Given the description of an element on the screen output the (x, y) to click on. 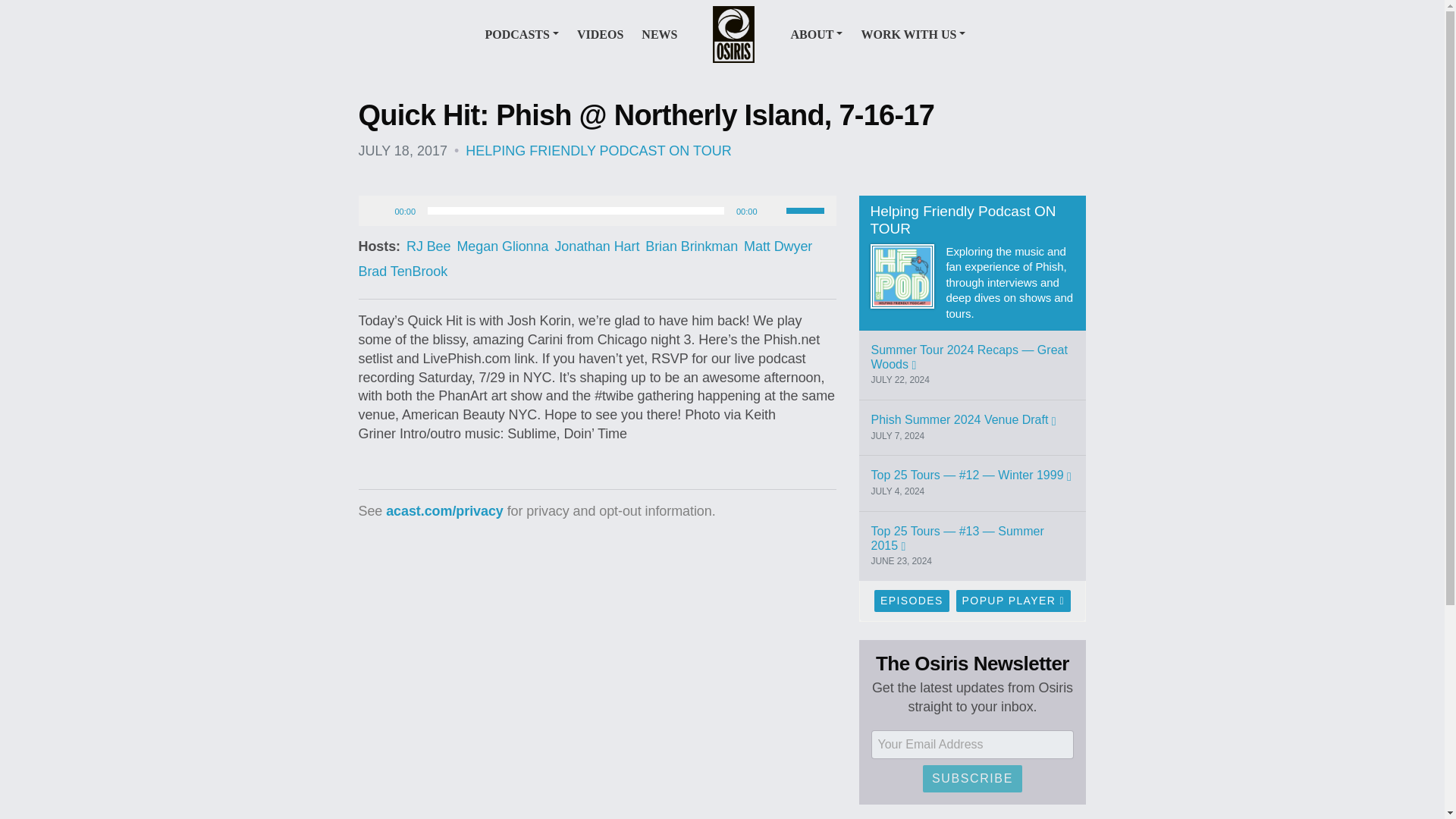
NEWS (659, 33)
ABOUT (816, 33)
Play (377, 210)
RJ Bee (428, 246)
Megan Glionna (502, 246)
WORK WITH US (912, 33)
VIDEOS (599, 33)
Mute (772, 210)
Subscribe (972, 778)
HELPING FRIENDLY PODCAST ON TOUR (597, 150)
PODCASTS (521, 33)
